Given the description of an element on the screen output the (x, y) to click on. 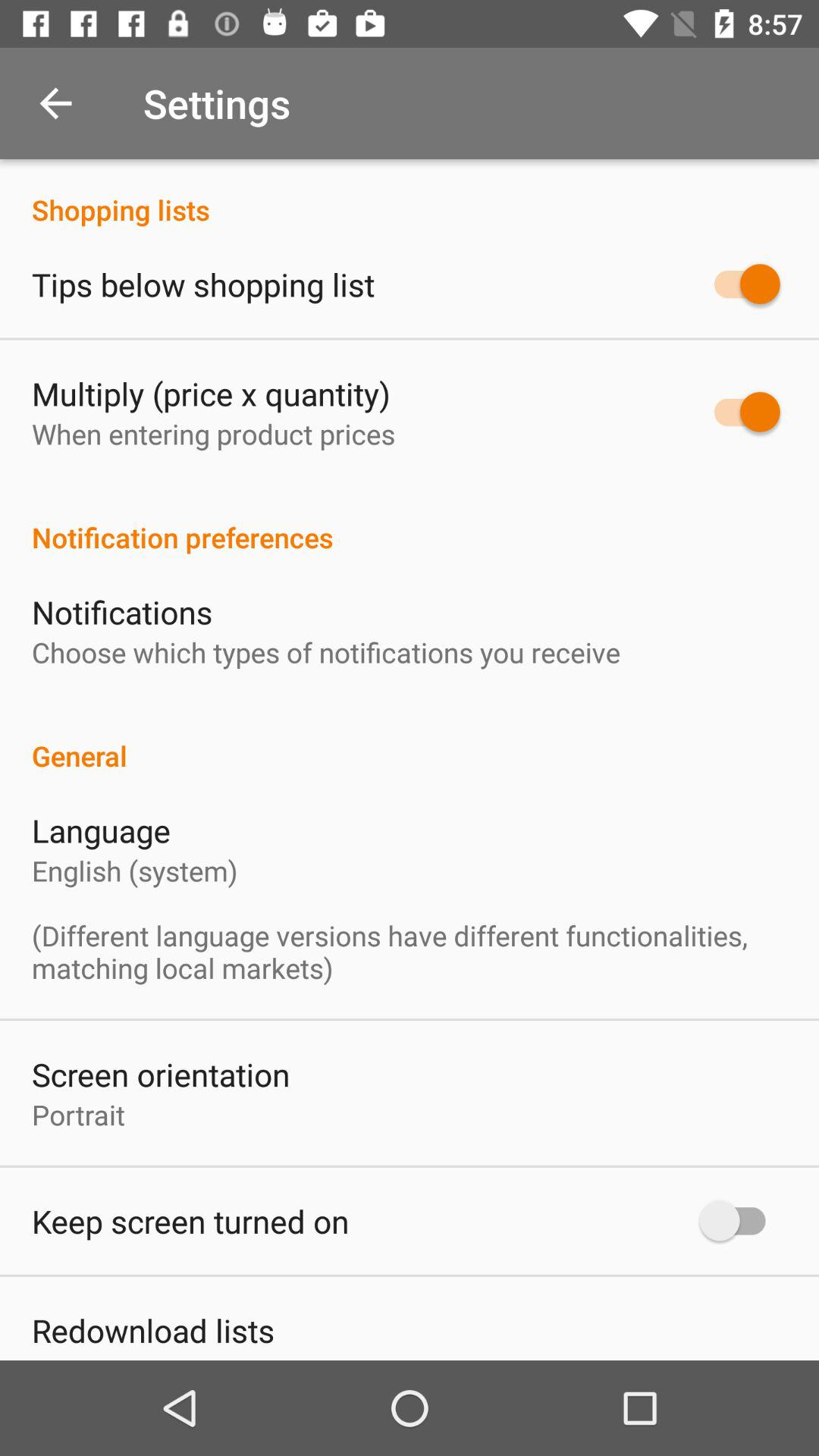
flip to the keep screen turned item (190, 1220)
